Given the description of an element on the screen output the (x, y) to click on. 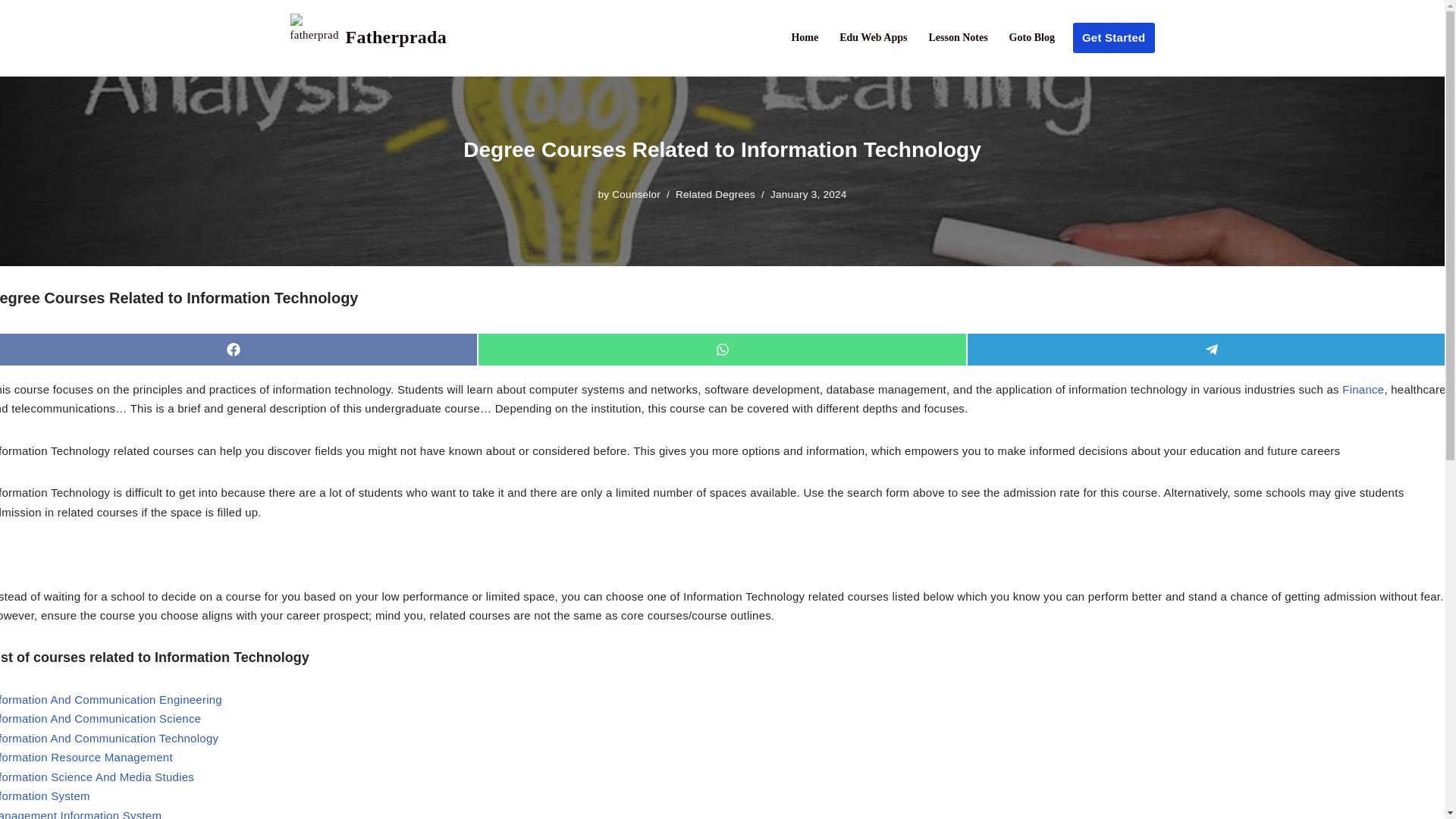
Edu Web Apps (873, 36)
Information And (37, 738)
Information And Communication Engineering (111, 698)
Related Degrees (715, 194)
Skip to content (11, 31)
Information Resource Management (86, 757)
Finance (1363, 388)
Management Information System (80, 814)
Information Science And Media Studies (96, 776)
Home (804, 36)
Goto Blog (1031, 36)
Posts by Counselor (636, 194)
Information System (45, 795)
Counselor (636, 194)
Lesson Notes (957, 36)
